Given the description of an element on the screen output the (x, y) to click on. 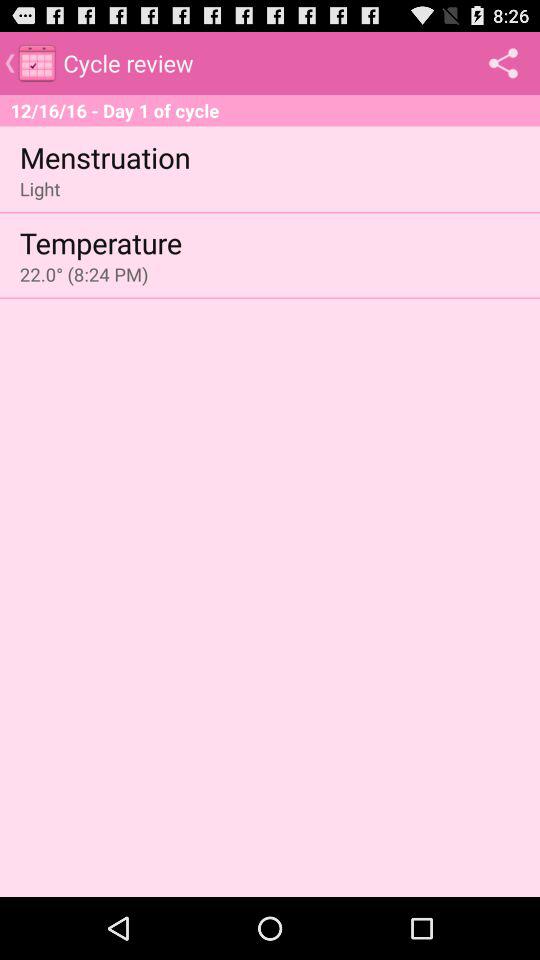
turn on the app above the 12 16 16 item (503, 62)
